Given the description of an element on the screen output the (x, y) to click on. 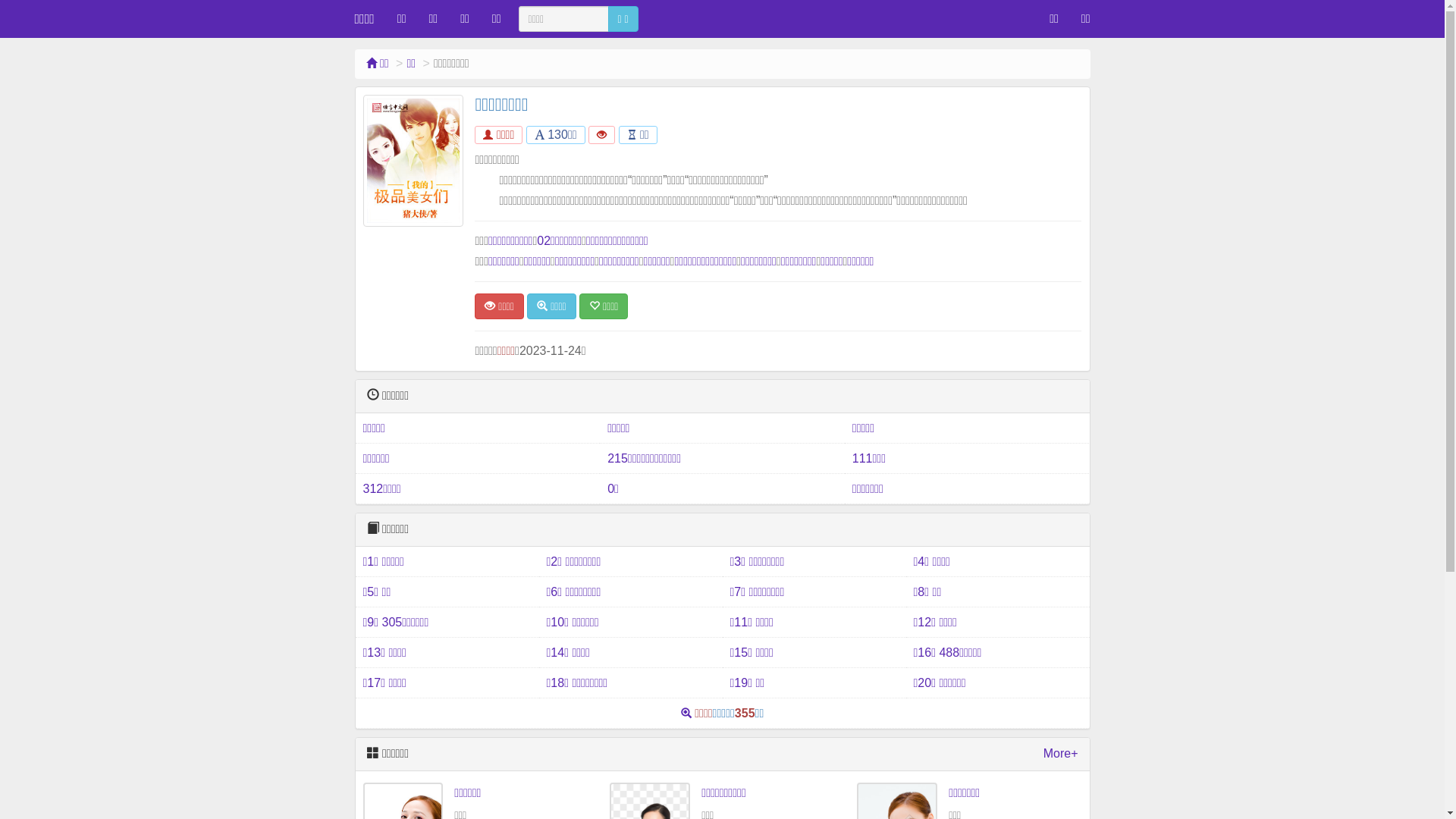
More+ Element type: text (1060, 753)
